Given the description of an element on the screen output the (x, y) to click on. 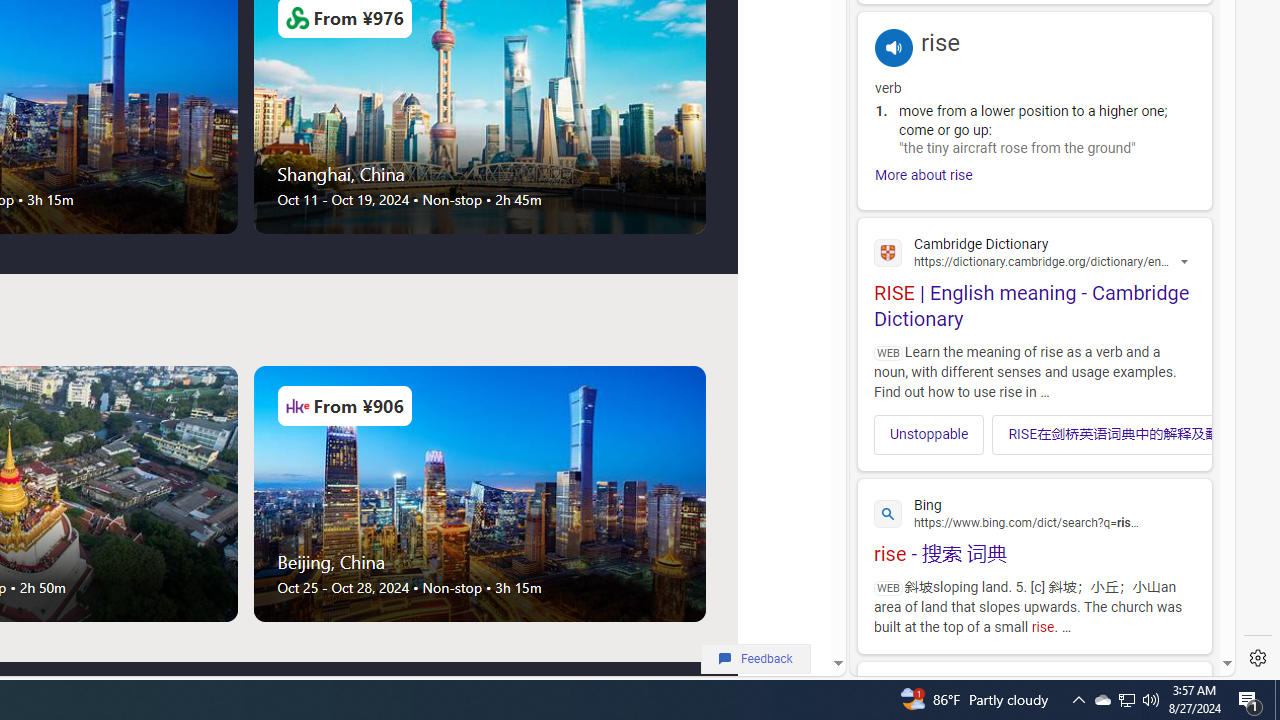
More about rise (923, 175)
Bing (1034, 511)
RISE | English meaning - Cambridge Dictionary (1034, 279)
